Given the description of an element on the screen output the (x, y) to click on. 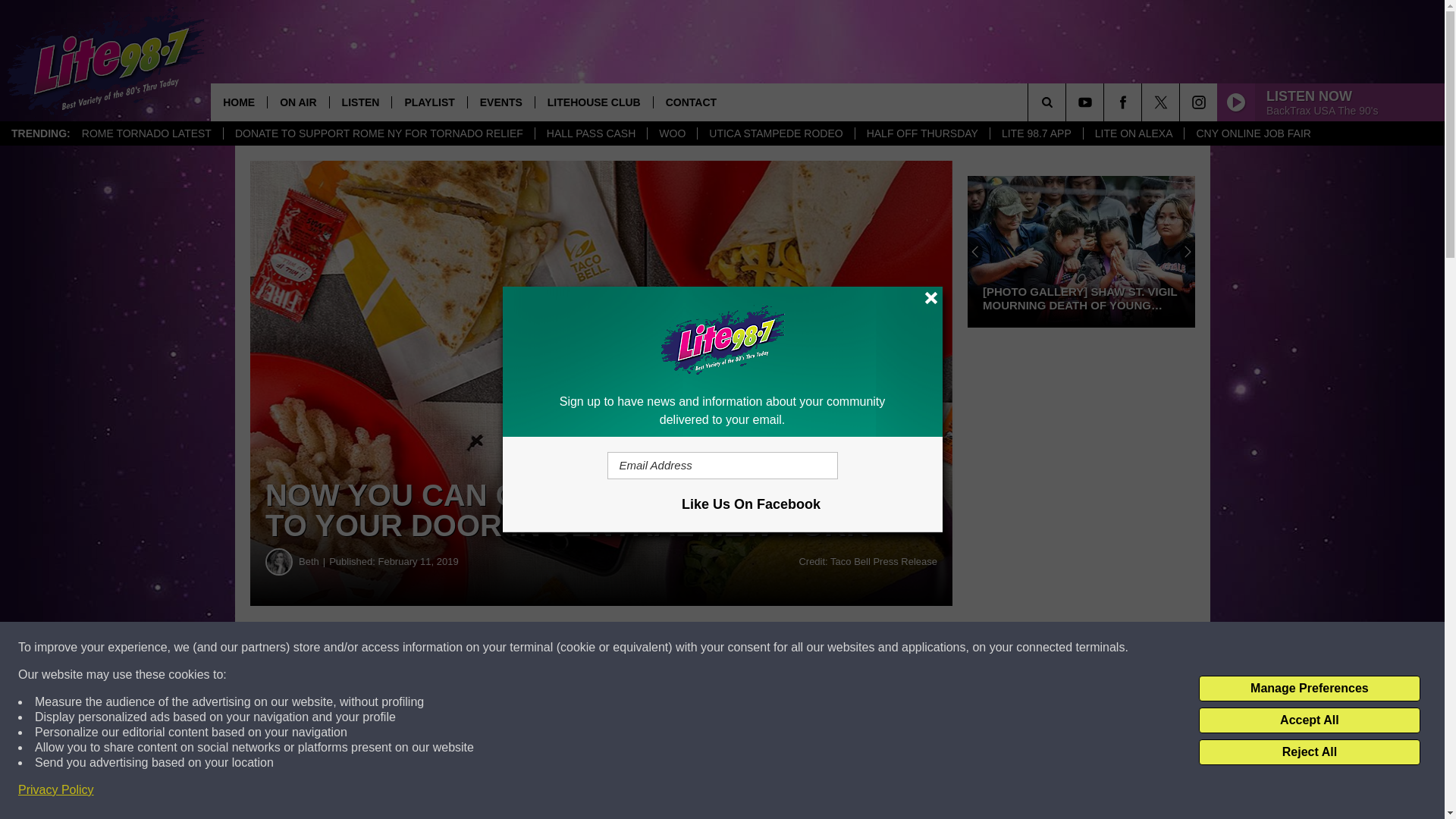
Reject All (1309, 751)
Email Address (722, 465)
ROME TORNADO LATEST (145, 133)
Manage Preferences (1309, 688)
Privacy Policy (55, 789)
LISTEN (360, 102)
SEARCH (1068, 102)
DONATE TO SUPPORT ROME NY FOR TORNADO RELIEF (378, 133)
CNY ONLINE JOB FAIR (1252, 133)
WOO (671, 133)
LITE 98.7 APP (1036, 133)
Share on Facebook (460, 647)
SEARCH (1068, 102)
HALL PASS CASH (590, 133)
Accept All (1309, 720)
